Given the description of an element on the screen output the (x, y) to click on. 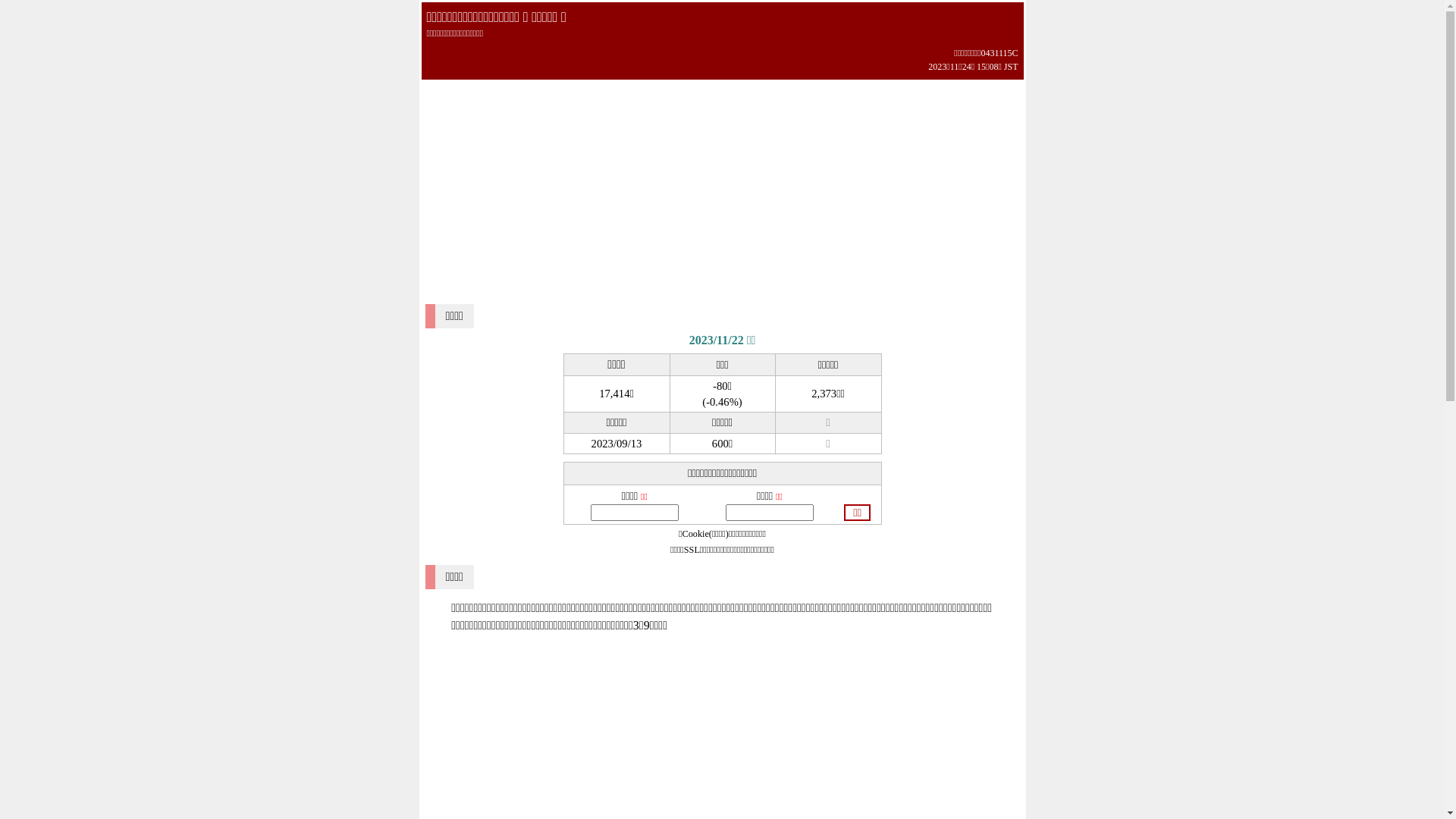
Advertisement Element type: hover (722, 185)
